Given the description of an element on the screen output the (x, y) to click on. 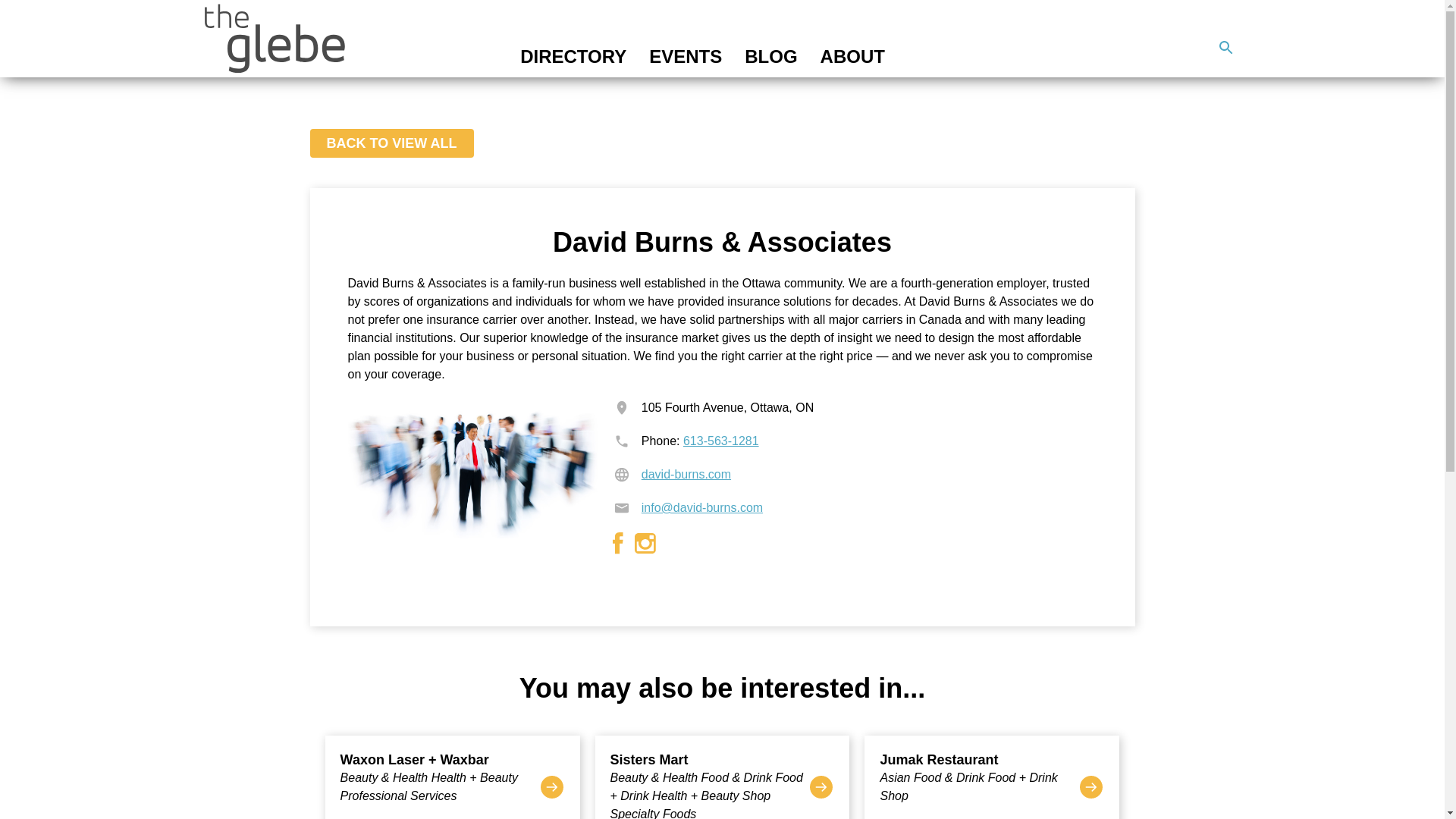
ABOUT (853, 55)
DIRECTORY (572, 55)
BACK TO VIEW ALL (390, 143)
BLOG (770, 55)
613-563-1281 (720, 440)
david-burns.com (686, 473)
EVENTS (685, 55)
news (1225, 47)
